Given the description of an element on the screen output the (x, y) to click on. 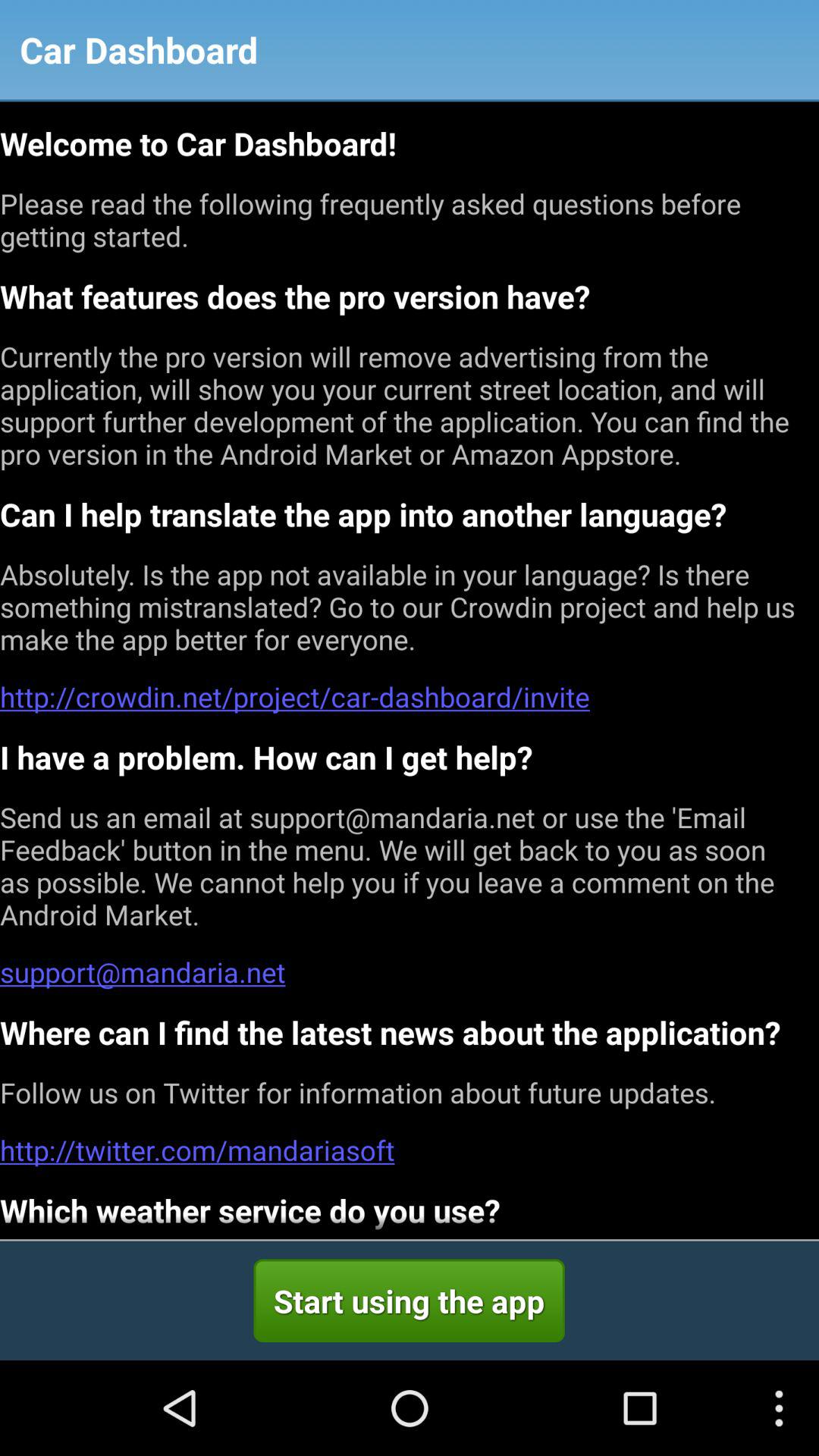
scroll to the start using the button (408, 1300)
